Given the description of an element on the screen output the (x, y) to click on. 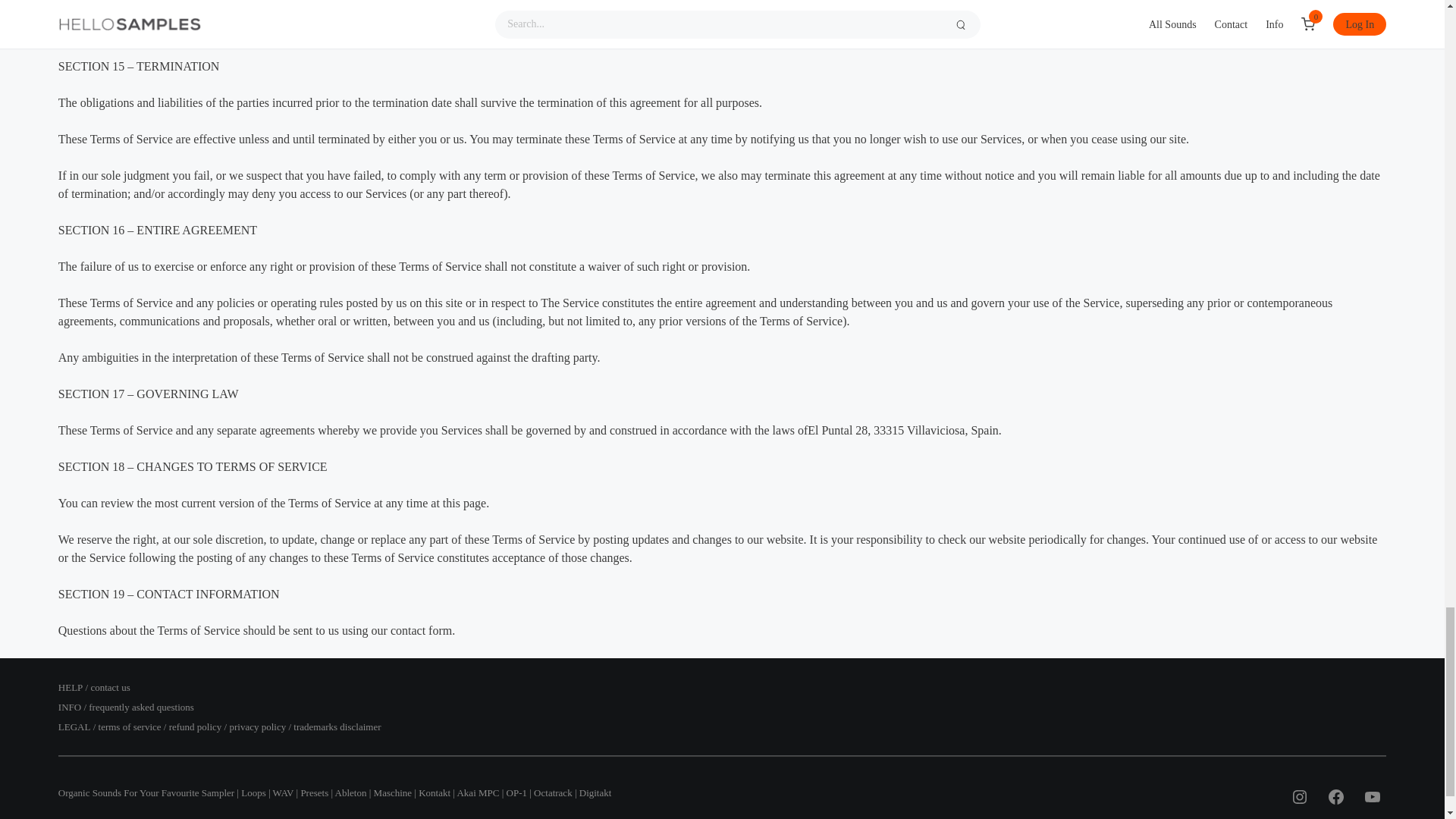
contact form (420, 630)
